Given the description of an element on the screen output the (x, y) to click on. 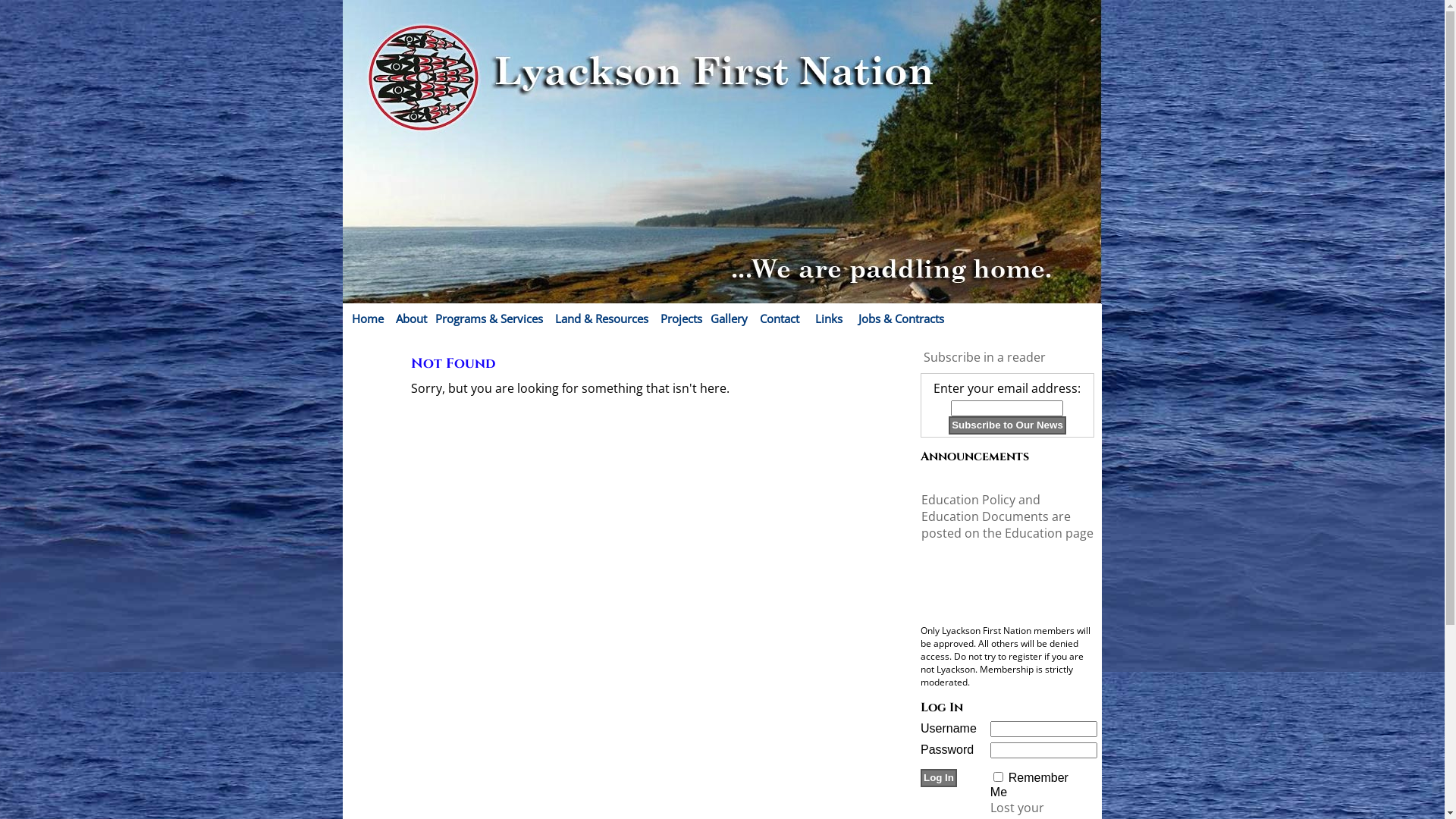
Contact Element type: text (779, 318)
About Element type: text (411, 318)
Gallery Element type: text (729, 318)
Jobs & Contracts Element type: text (901, 318)
Home Element type: text (367, 318)
Subscribe to Our News Element type: text (1007, 425)
Projects Element type: text (680, 318)
Log In Element type: text (938, 777)
Land & Resources Element type: text (601, 318)
Subscribe in a reader Element type: text (984, 356)
Links Element type: text (828, 318)
Programs & Services Element type: text (488, 318)
